Given the description of an element on the screen output the (x, y) to click on. 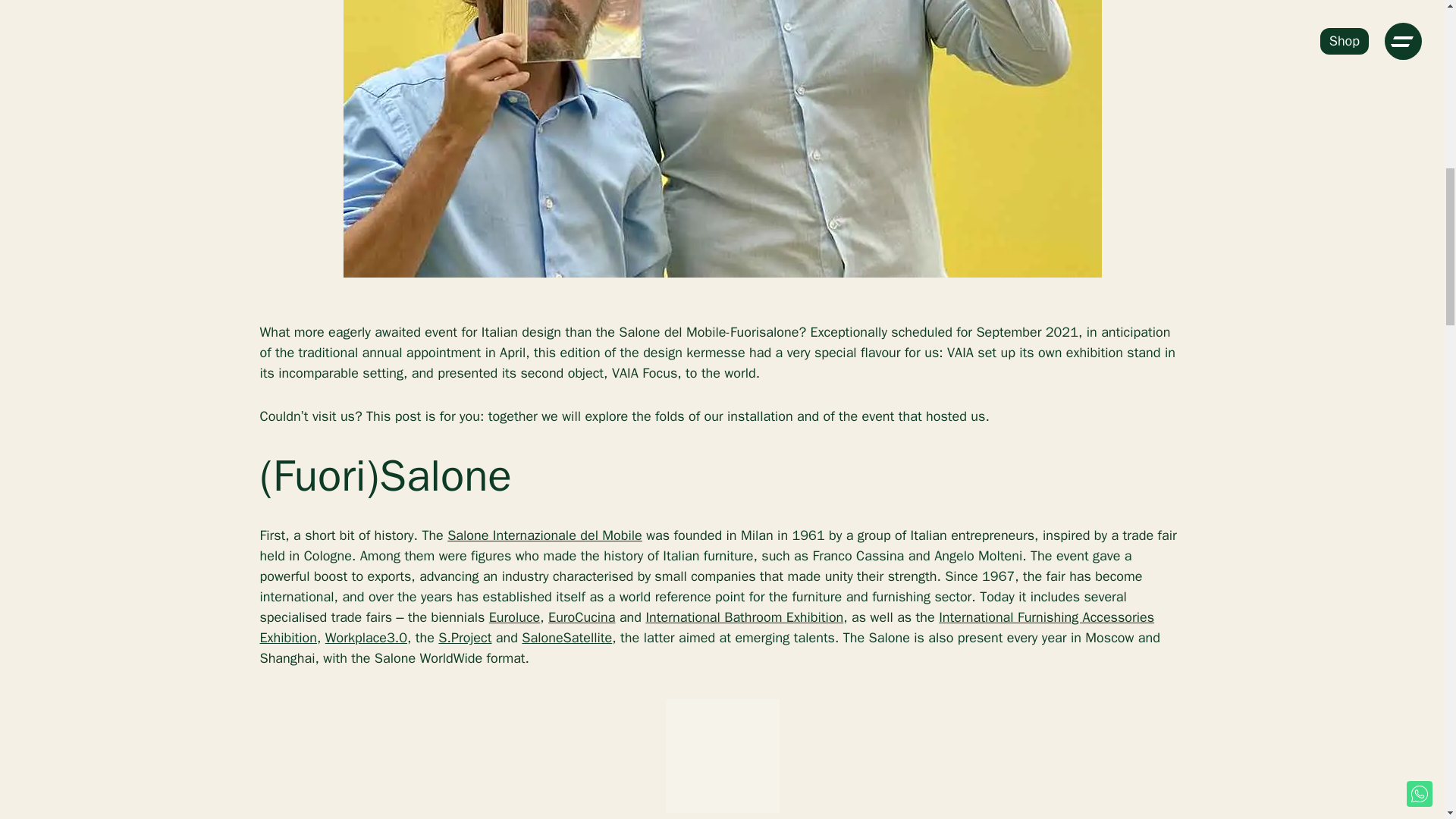
Workplace3.0 (365, 637)
SaloneSatellite (566, 637)
International Bathroom Exhibition (744, 617)
Salone Internazionale del Mobile (544, 535)
International Furnishing Accessories Exhibition (706, 627)
Euroluce (514, 617)
EuroCucina (581, 617)
S.Project (465, 637)
